Given the description of an element on the screen output the (x, y) to click on. 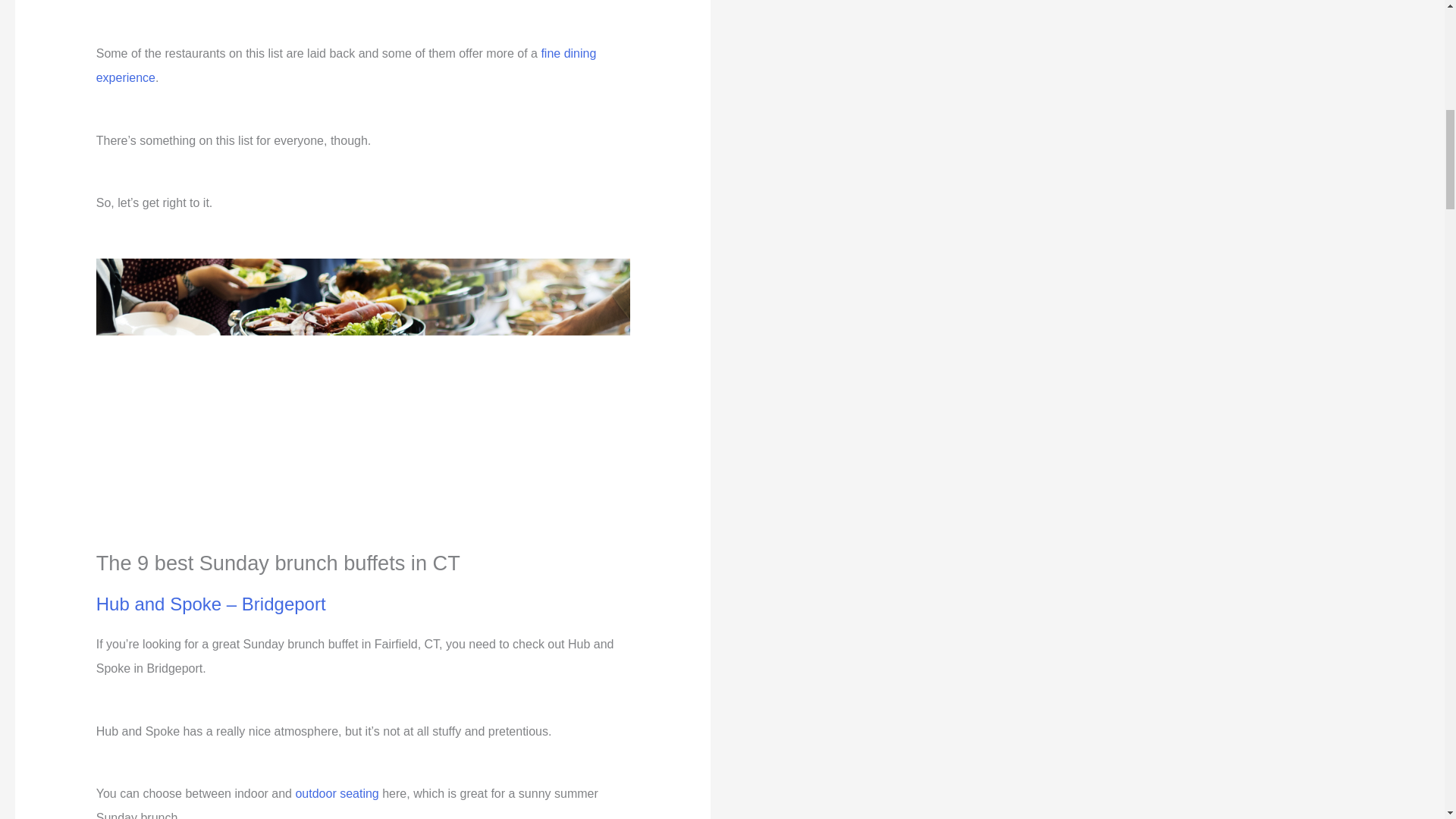
fine dining experience (346, 65)
outdoor seating (336, 793)
